Given the description of an element on the screen output the (x, y) to click on. 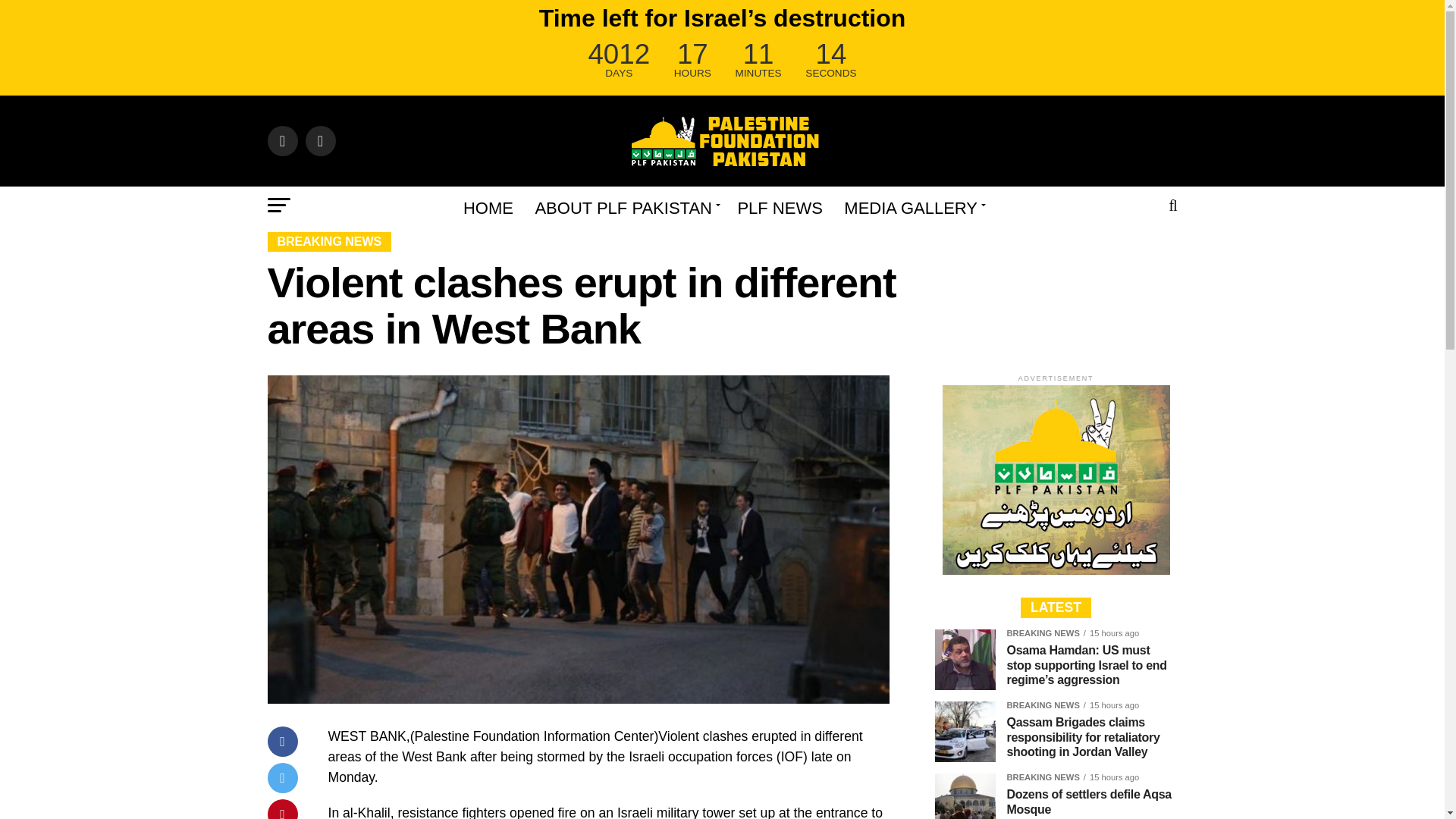
HOME (488, 208)
MEDIA GALLERY (912, 208)
PLF NEWS (779, 208)
ABOUT PLF PAKISTAN (625, 208)
